Given the description of an element on the screen output the (x, y) to click on. 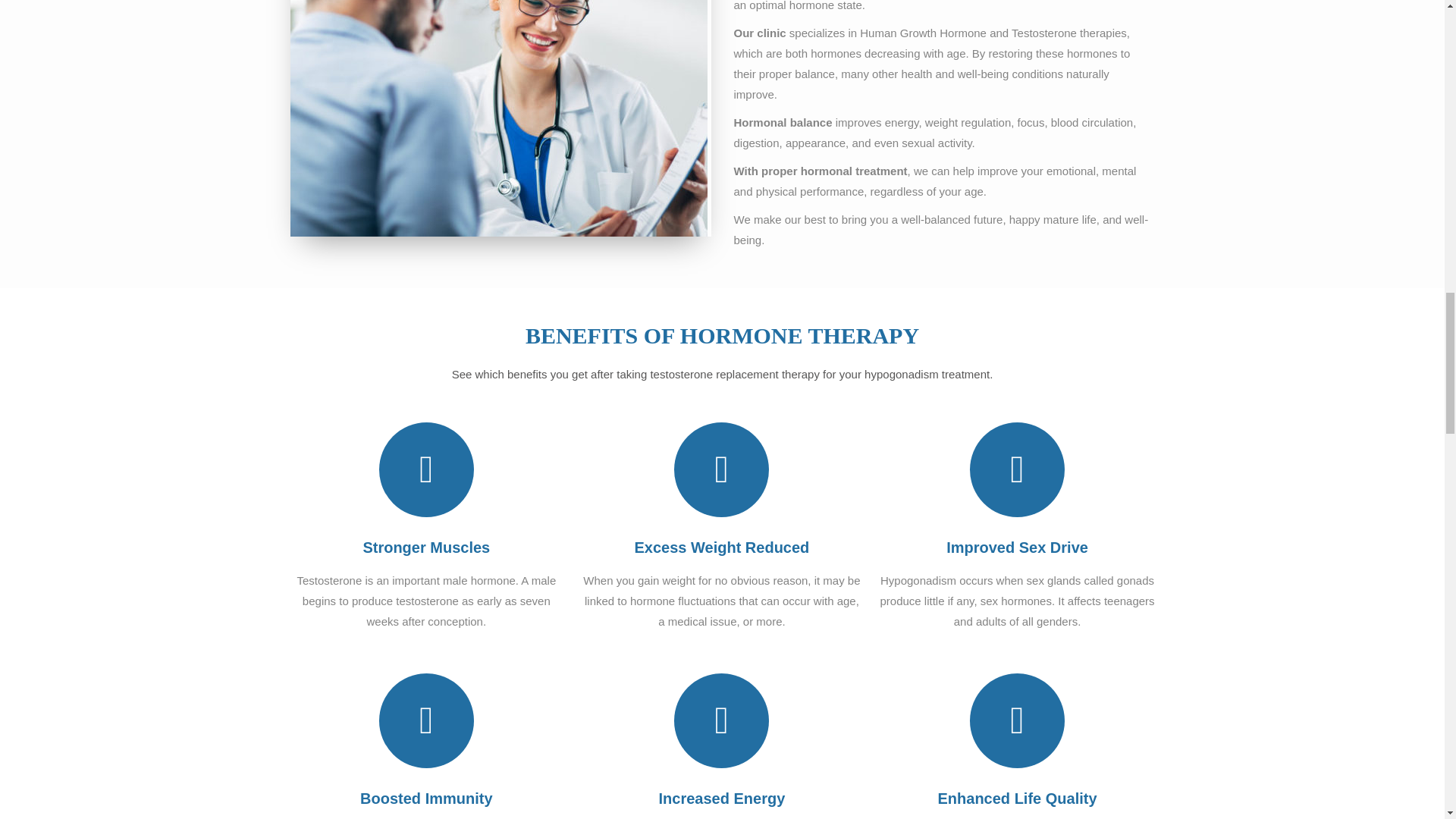
Stronger Muscles (425, 547)
Excess Weight Reduced (721, 547)
